Given the description of an element on the screen output the (x, y) to click on. 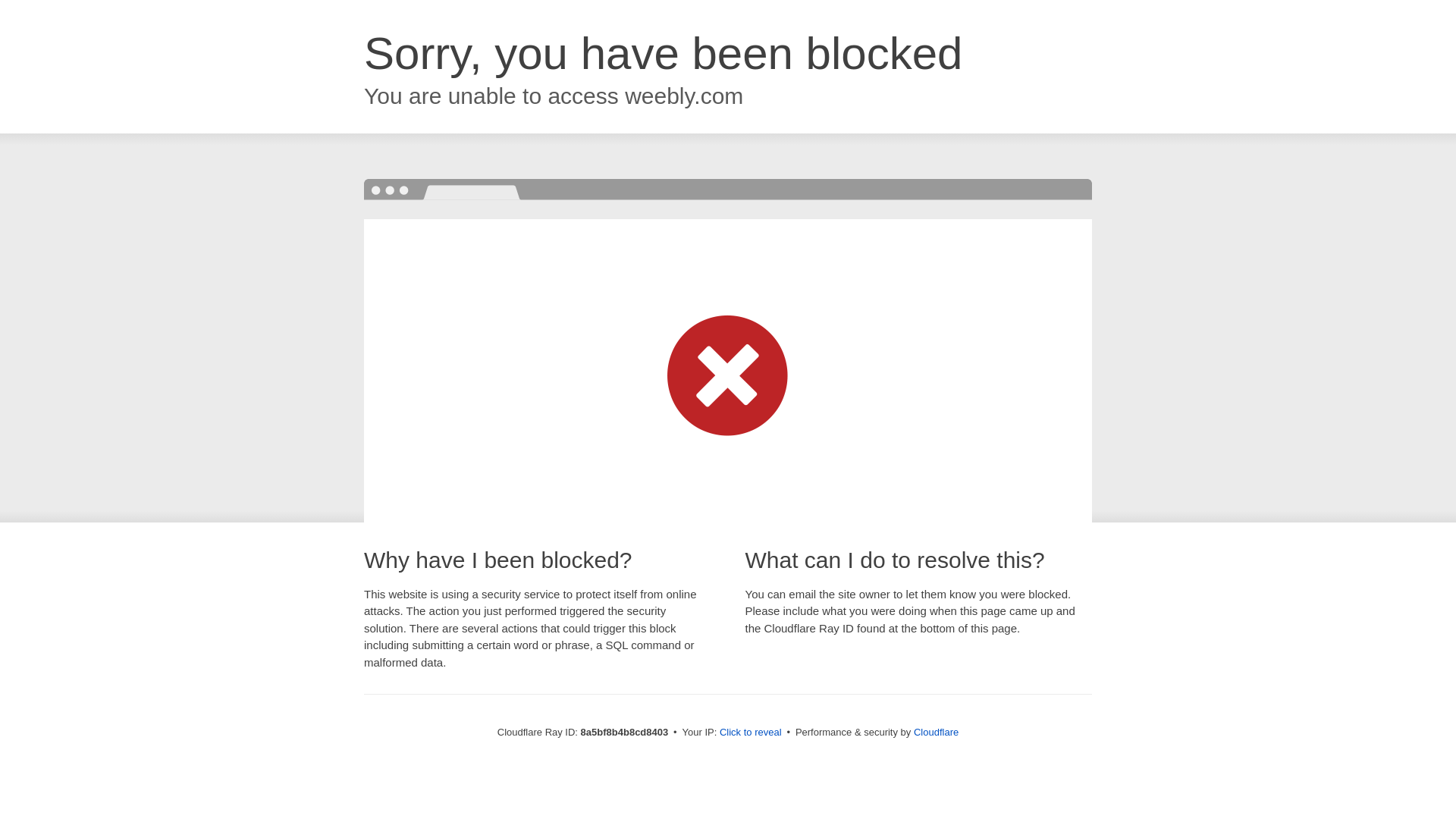
Cloudflare (936, 731)
Click to reveal (750, 732)
